Given the description of an element on the screen output the (x, y) to click on. 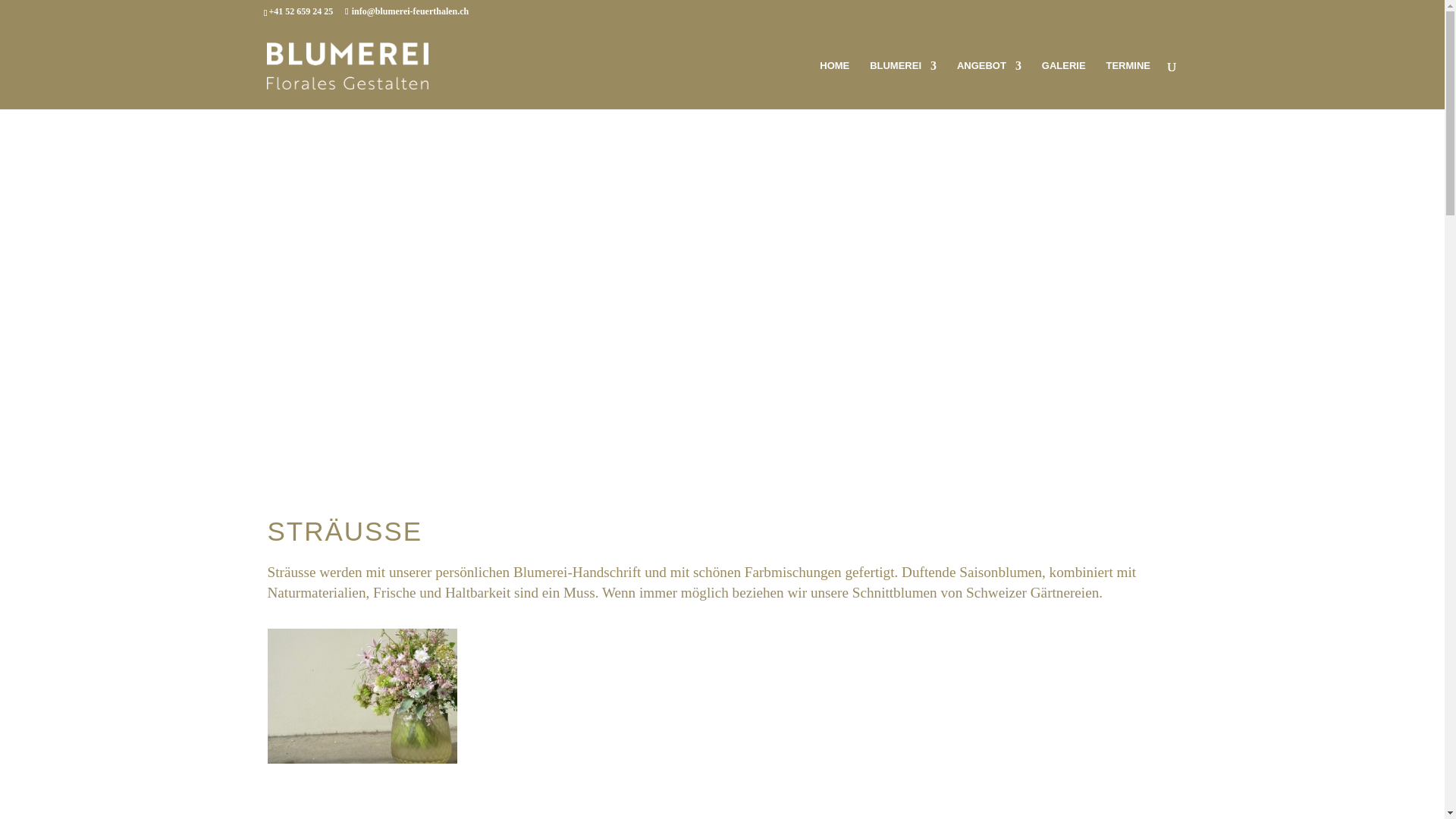
TERMINE Element type: text (1127, 84)
ANGEBOT Element type: text (989, 84)
BLUMEREI Element type: text (902, 84)
info@blumerei-feuerthalen.ch Element type: text (406, 11)
GALERIE Element type: text (1063, 84)
0A937878-4BB8-421A-B9C2-9EDC5595DB2F Element type: hover (361, 759)
HOME Element type: text (834, 84)
